Given the description of an element on the screen output the (x, y) to click on. 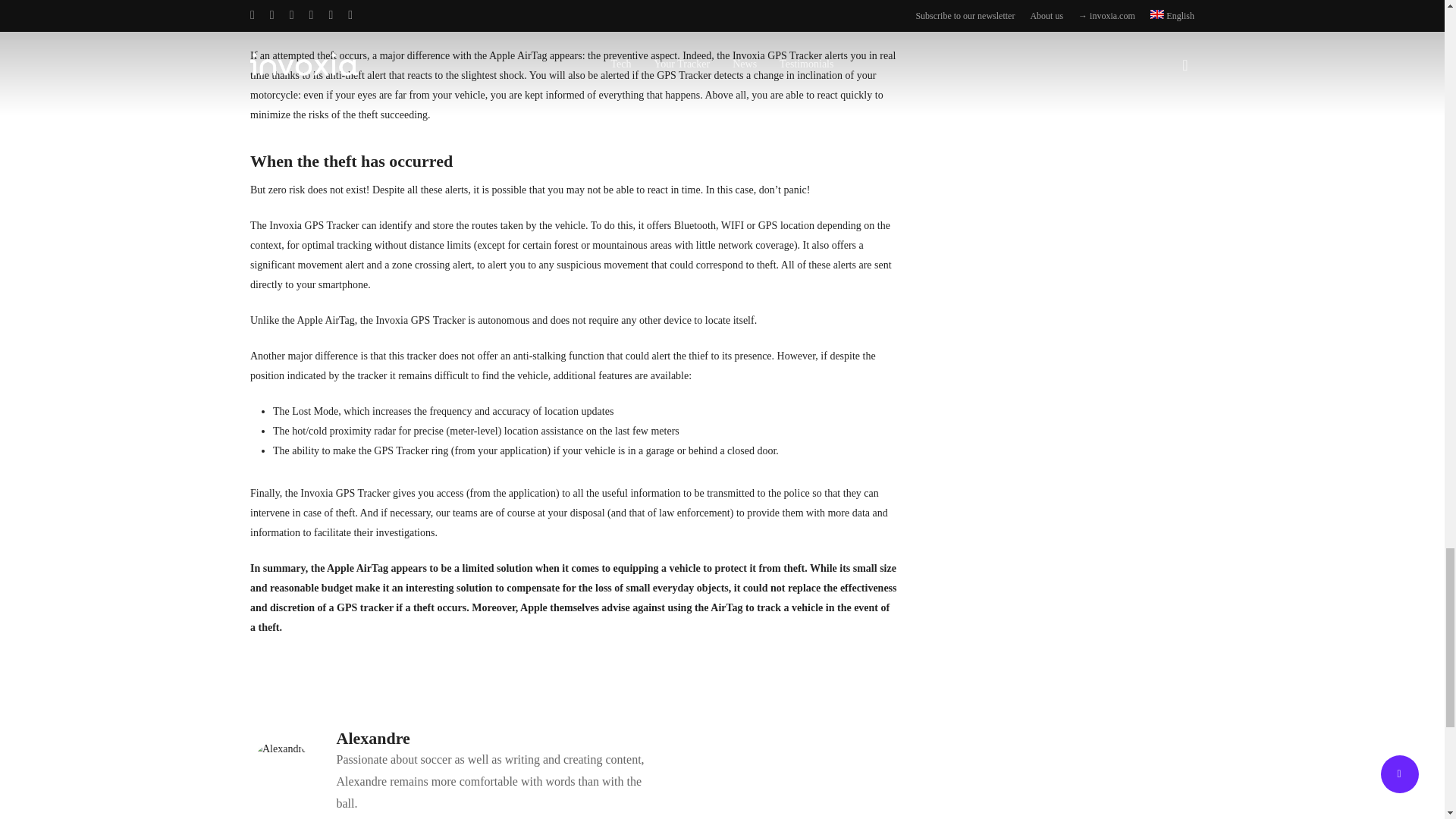
Alexandre (373, 737)
